Given the description of an element on the screen output the (x, y) to click on. 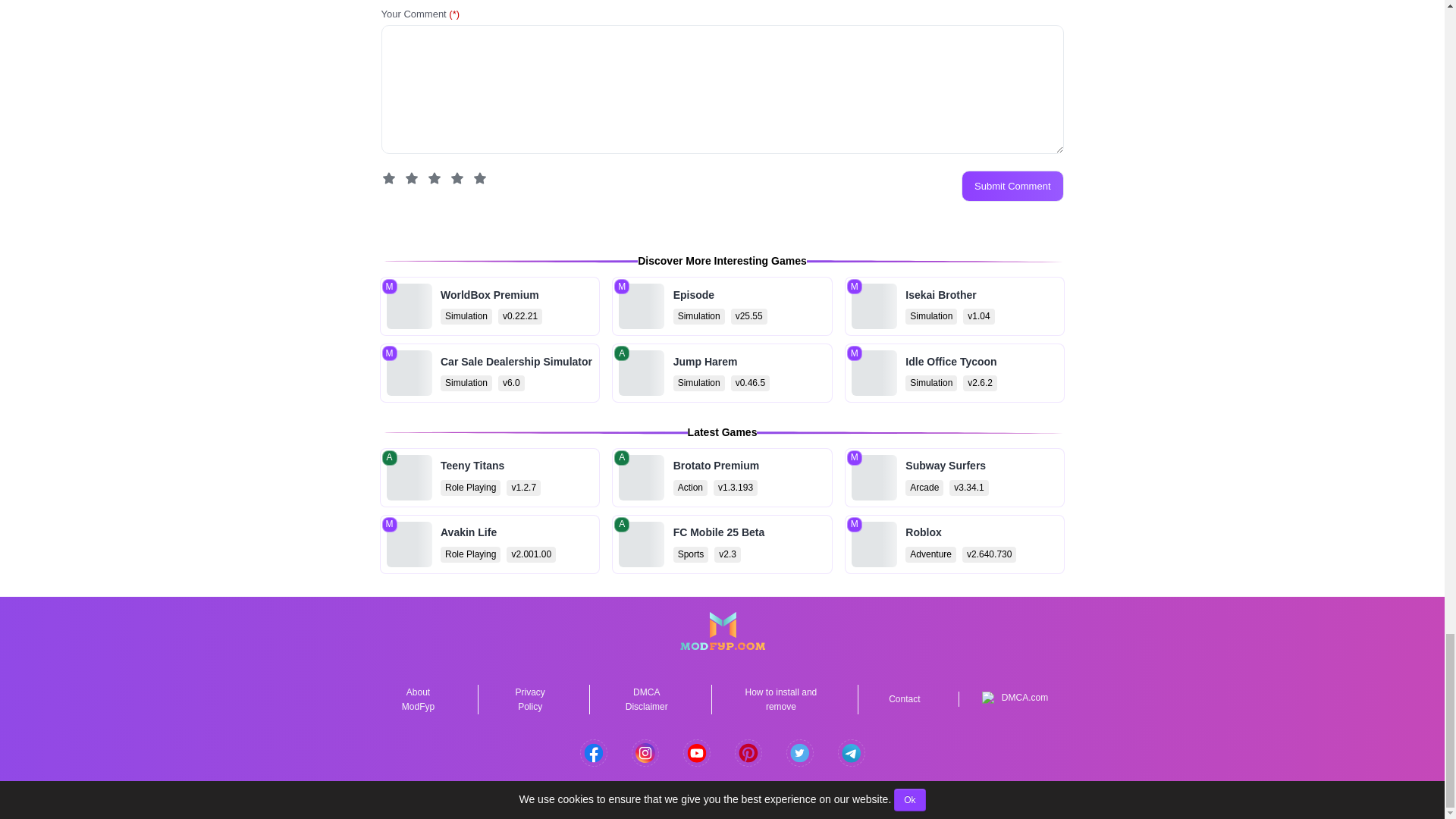
FC Mobile 25 Beta (721, 544)
Jump Harem (721, 372)
Idle Office Tycoon (954, 372)
Avakin Life  (488, 544)
Episode (721, 305)
Car Sale Dealership Simulator (488, 372)
Brotato Premium (721, 476)
Teeny Titans (488, 476)
WorldBox Premium (488, 305)
Subway Surfers (954, 476)
